Given the description of an element on the screen output the (x, y) to click on. 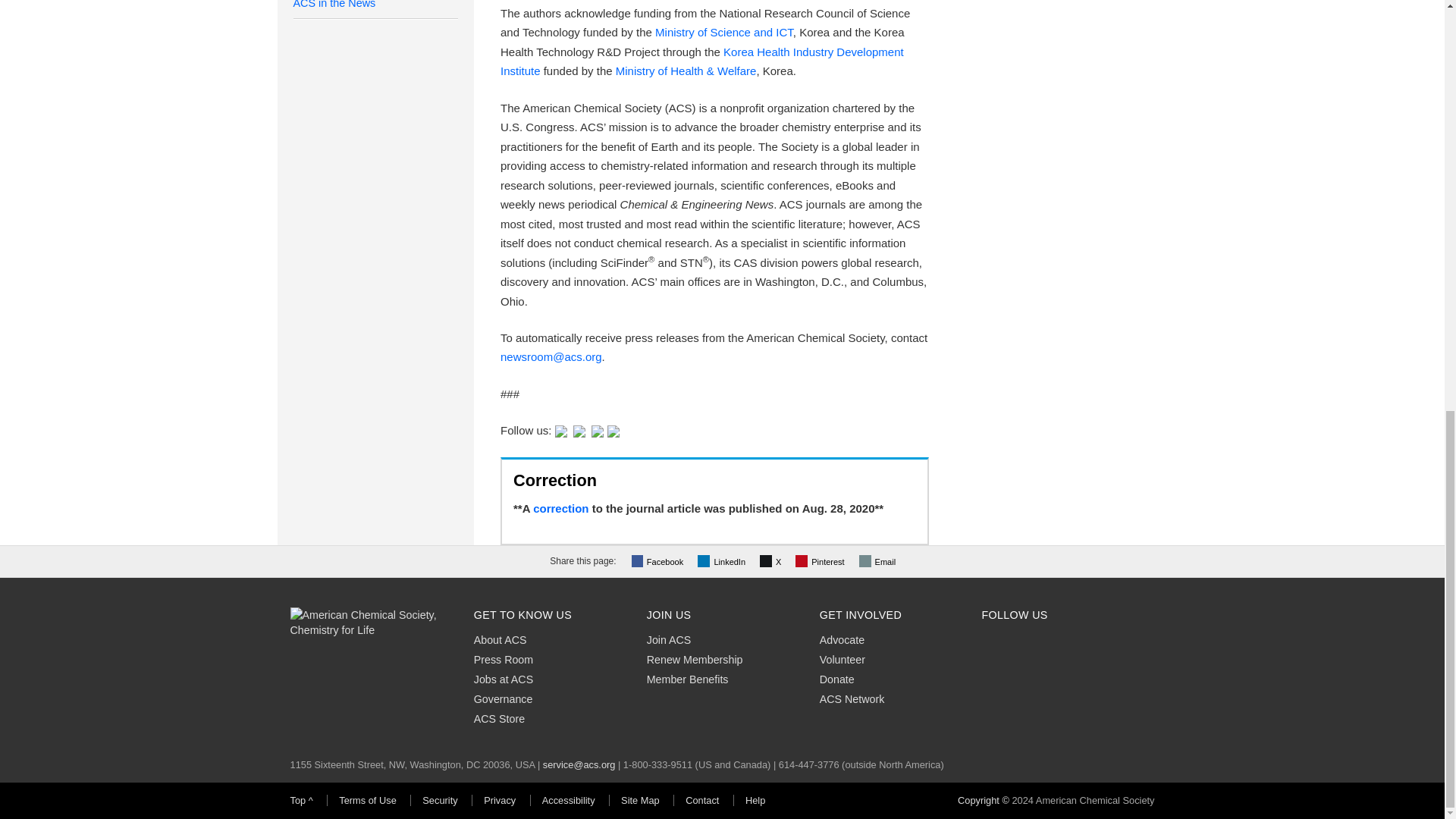
LinkedIn (723, 561)
ACS Press Room on Twitter (560, 430)
Pinterest (820, 561)
ACS on LinkedIn (597, 430)
ACS on Facebook (579, 430)
Facebook (659, 561)
Tweet (772, 561)
ACS on Instagram (613, 430)
Email (879, 561)
